Given the description of an element on the screen output the (x, y) to click on. 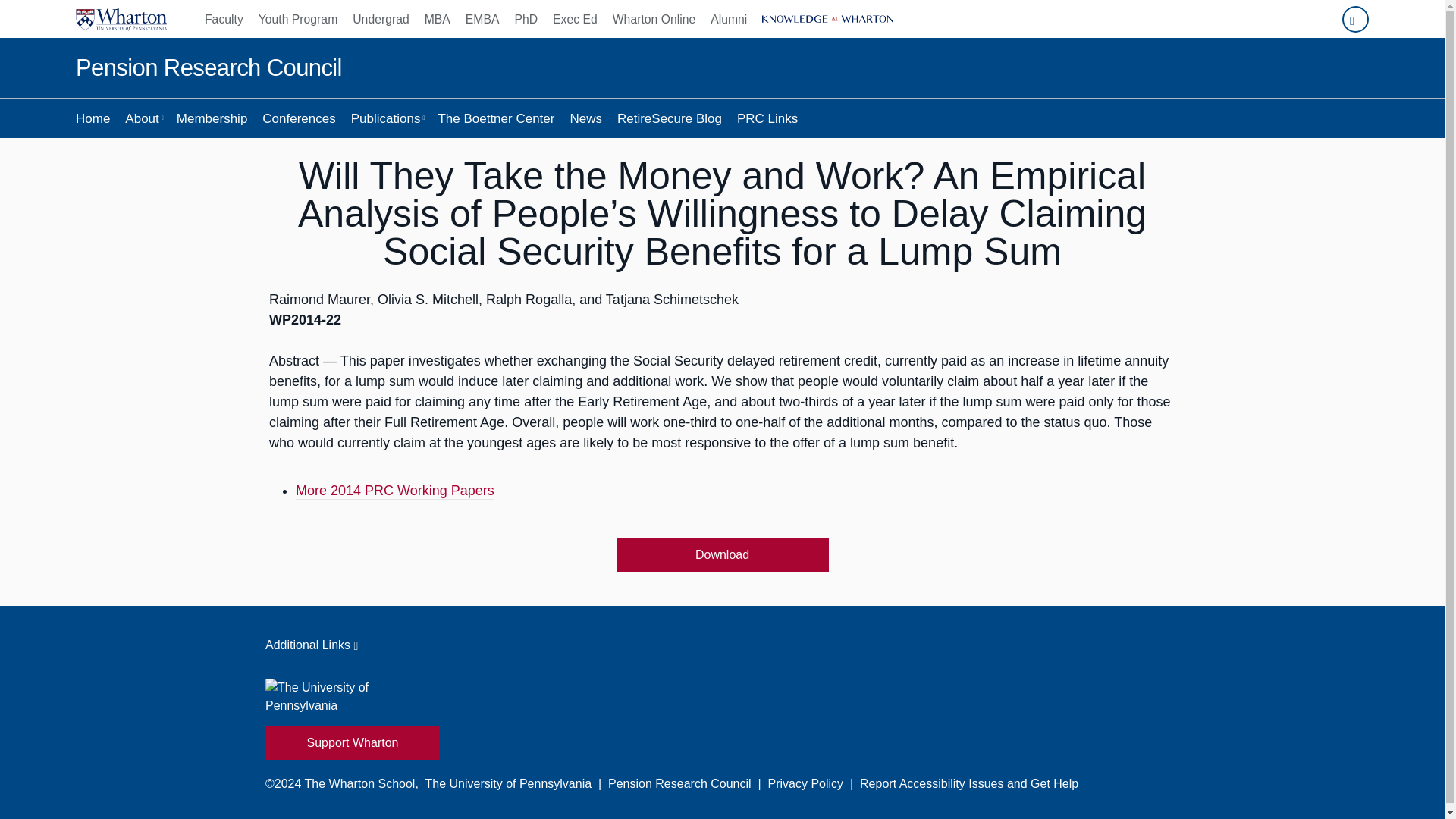
News (586, 117)
Wharton Home (121, 18)
Pension Research Council (208, 67)
About (142, 117)
The Boettner Center (495, 117)
Undergrad (380, 18)
Exec Ed (574, 18)
MBA (437, 18)
Faculty (227, 18)
Additional Links (721, 645)
Search Wharton (1355, 18)
Youth Program (297, 18)
Publications (386, 117)
PRC Links (767, 117)
Download (721, 554)
